Given the description of an element on the screen output the (x, y) to click on. 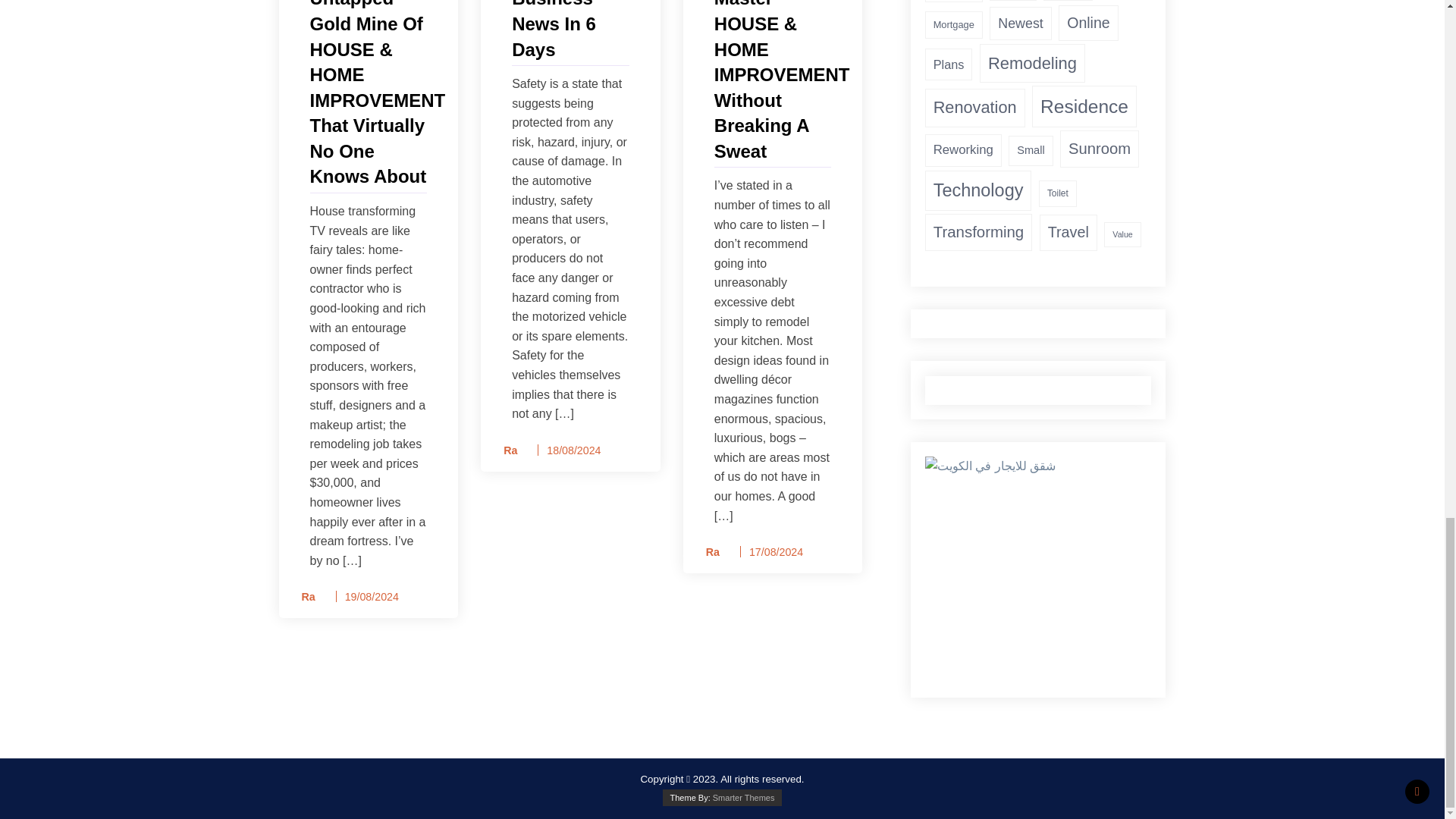
Ra (504, 450)
Ra (707, 552)
6 Ways To Business News In 6 Days (570, 31)
Ra (303, 597)
